Given the description of an element on the screen output the (x, y) to click on. 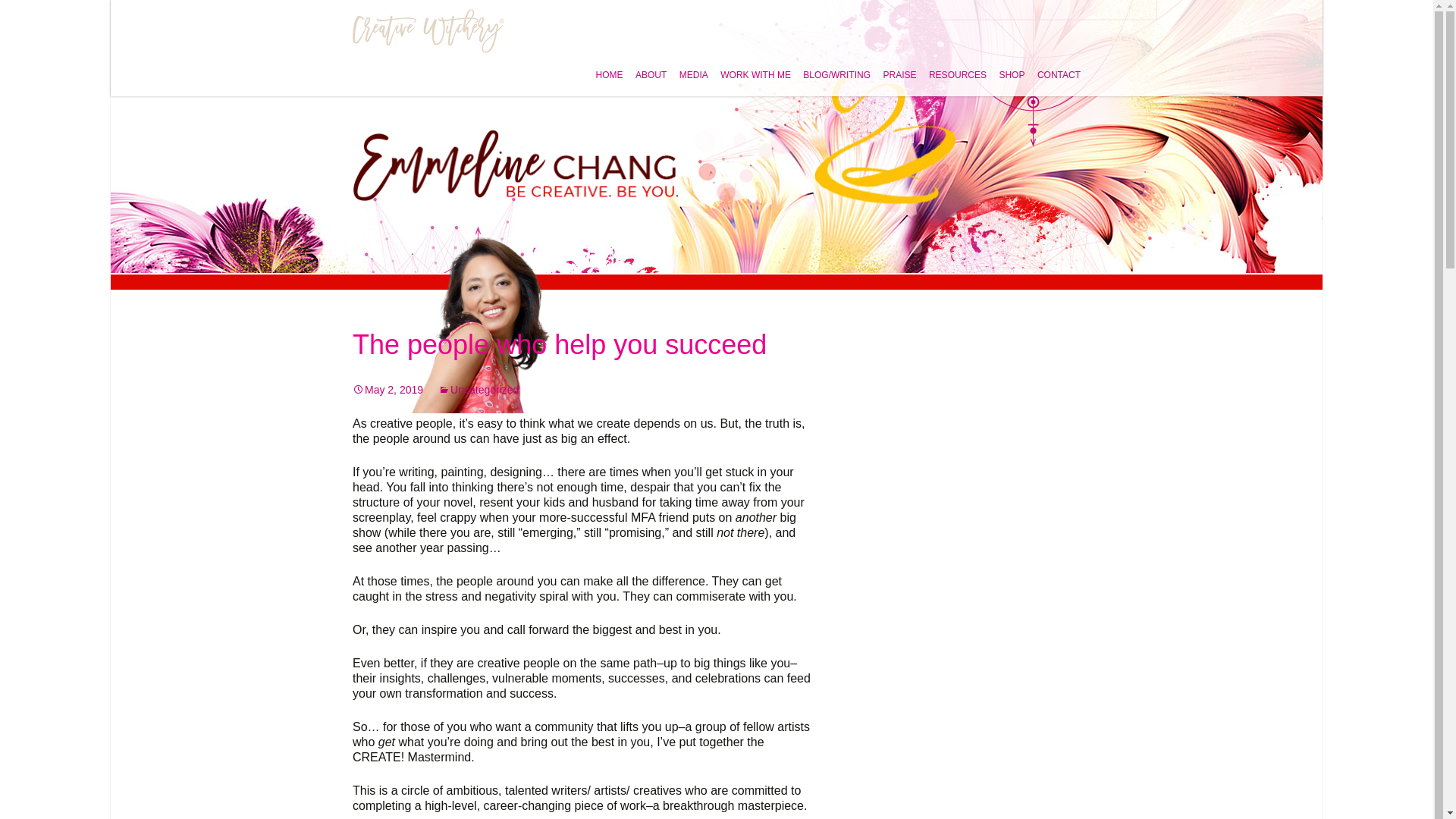
RESOURCES (953, 66)
CONTACT (1053, 66)
PRAISE (894, 66)
May 2, 2019 (387, 389)
MEDIA (688, 66)
HOME (604, 66)
Permalink to The people who help you succeed (387, 389)
WORK WITH ME (750, 66)
SHOP (1007, 66)
Uncategorized (478, 389)
ABOUT (646, 66)
